Given the description of an element on the screen output the (x, y) to click on. 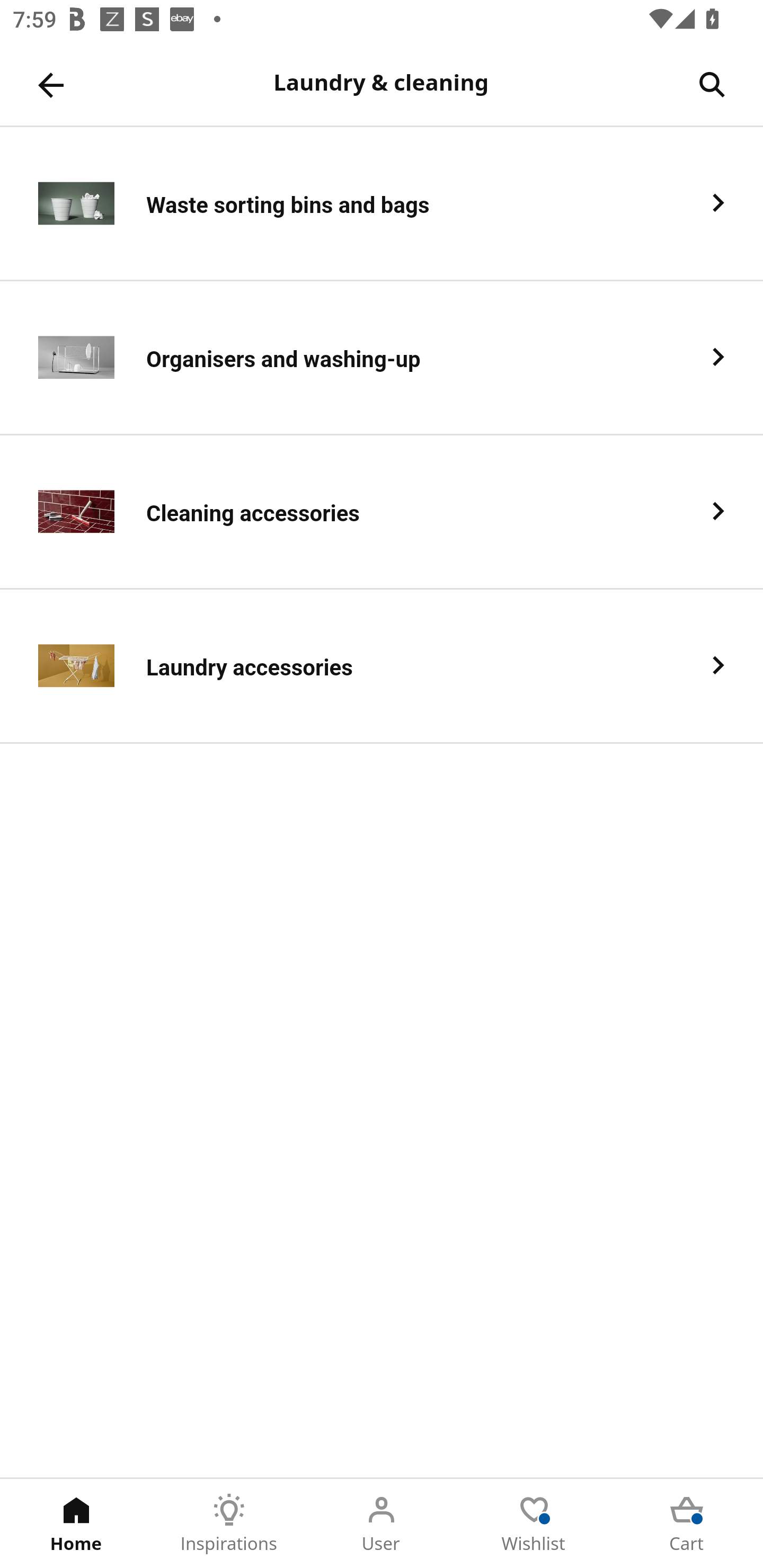
Waste sorting bins and bags (381, 203)
Organisers and washing-up (381, 357)
Cleaning accessories (381, 512)
Laundry accessories (381, 666)
Home
Tab 1 of 5 (76, 1522)
Inspirations
Tab 2 of 5 (228, 1522)
User
Tab 3 of 5 (381, 1522)
Wishlist
Tab 4 of 5 (533, 1522)
Cart
Tab 5 of 5 (686, 1522)
